Given the description of an element on the screen output the (x, y) to click on. 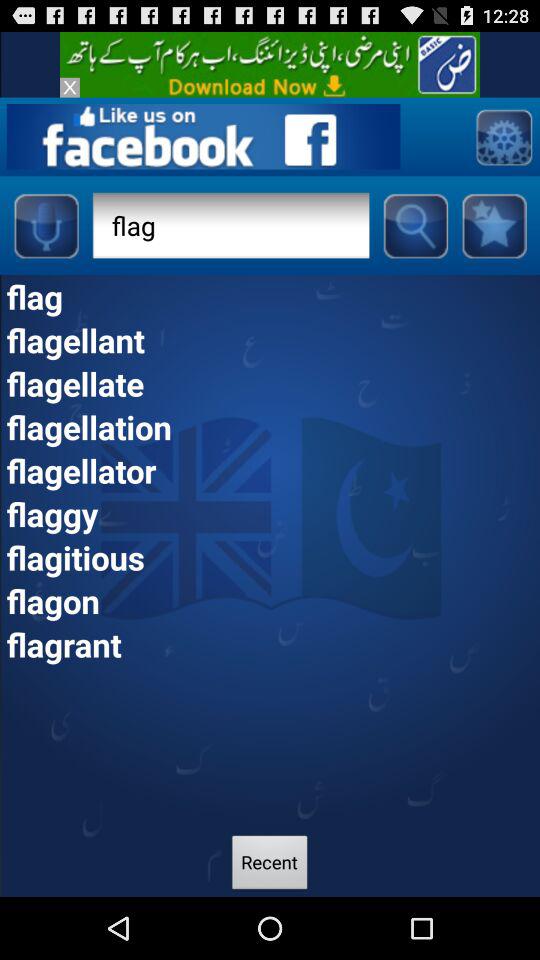
setting page (503, 136)
